Given the description of an element on the screen output the (x, y) to click on. 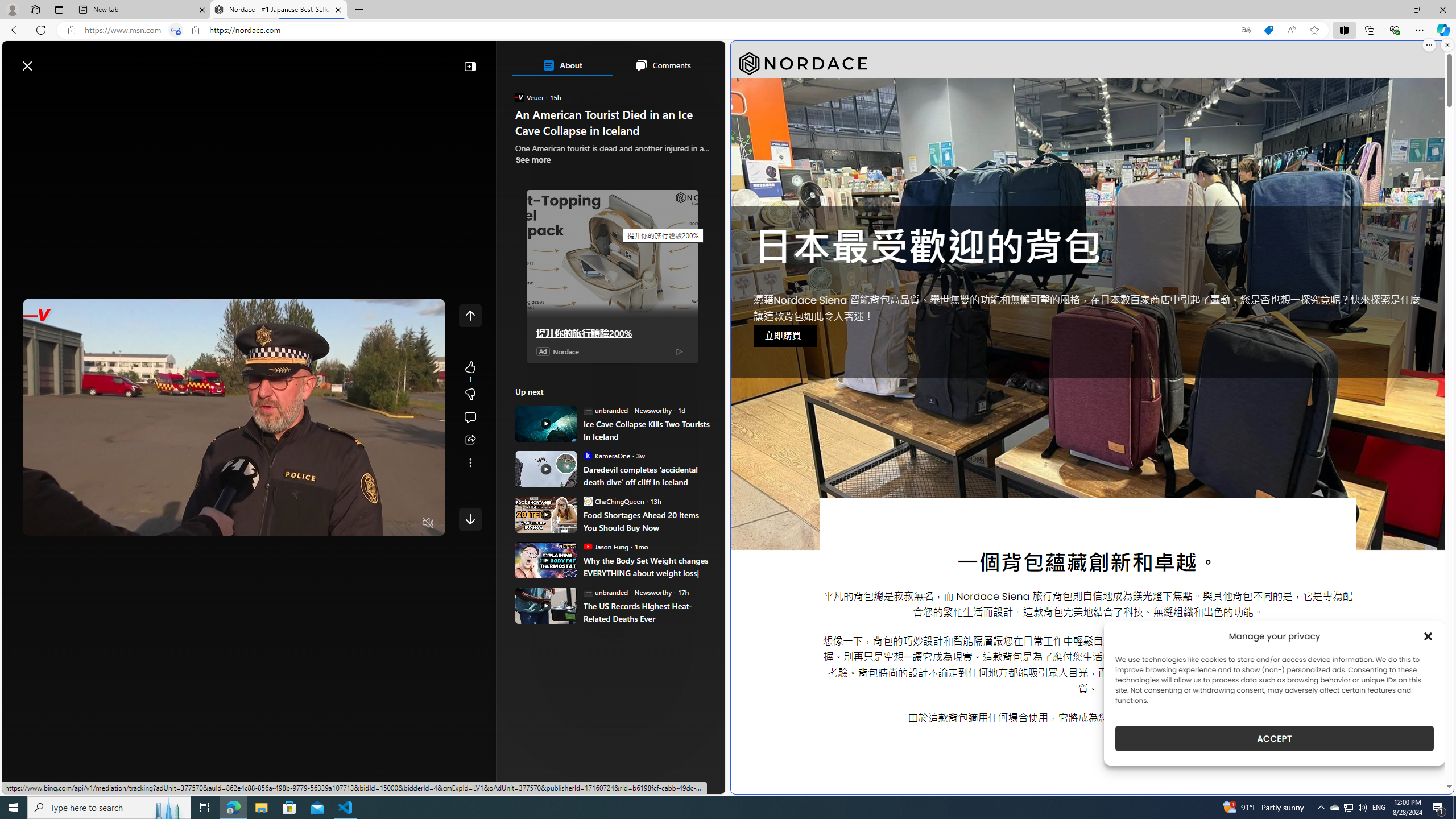
ACCEPT (1274, 738)
Collapse (469, 65)
Seek Forward (85, 523)
Add this page to favorites (Ctrl+D) (1314, 29)
Captions (383, 523)
Open Copilot (566, 59)
Discover (52, 92)
Close (1442, 9)
The US Records Highest Heat-Related Deaths Ever (545, 605)
Nordace - #1 Japanese Best-Seller - Siena Smart Backpack (277, 9)
